Given the description of an element on the screen output the (x, y) to click on. 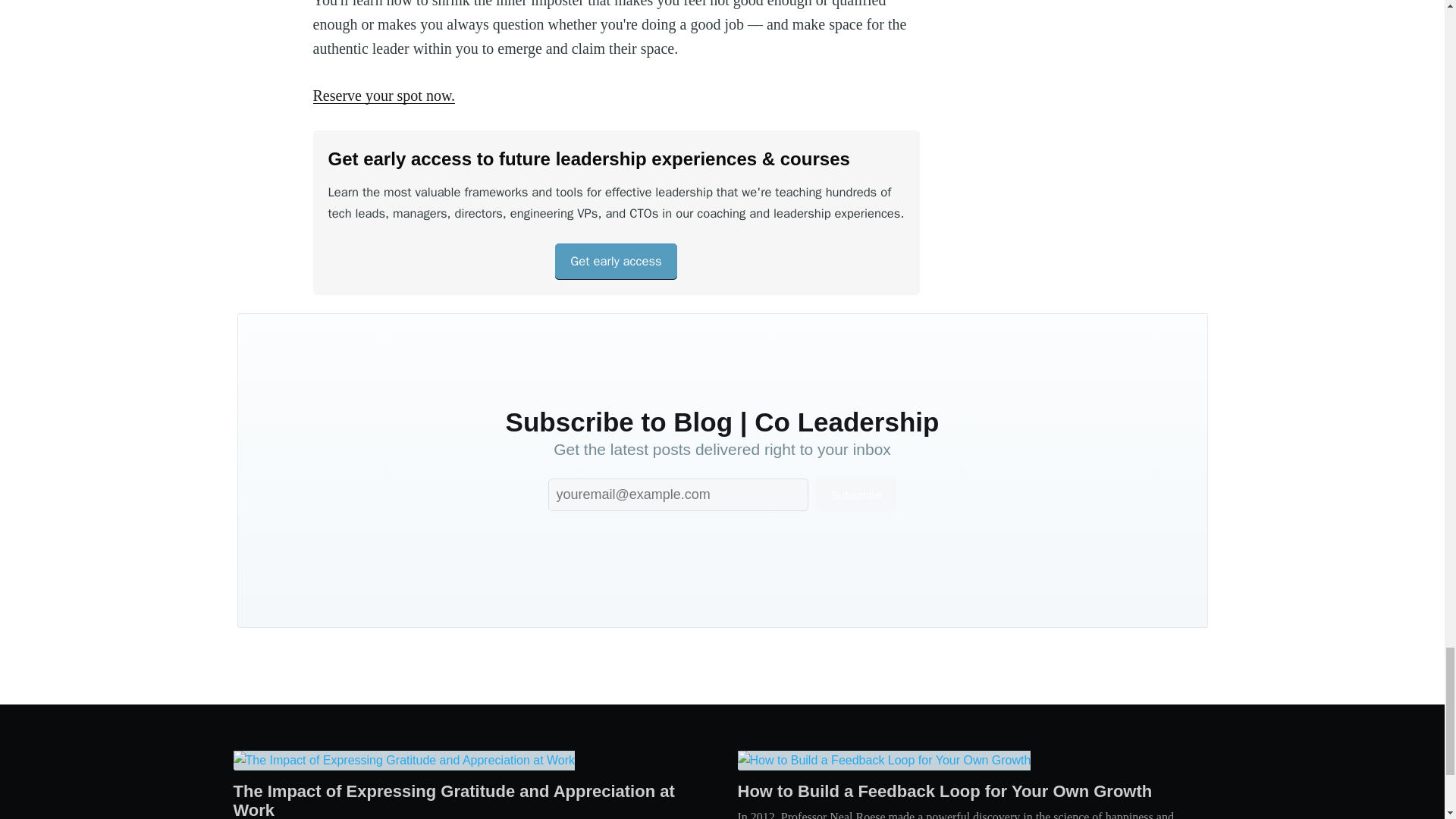
Get early access (615, 261)
Subscribe (855, 494)
Reserve your spot now. (383, 95)
